Given the description of an element on the screen output the (x, y) to click on. 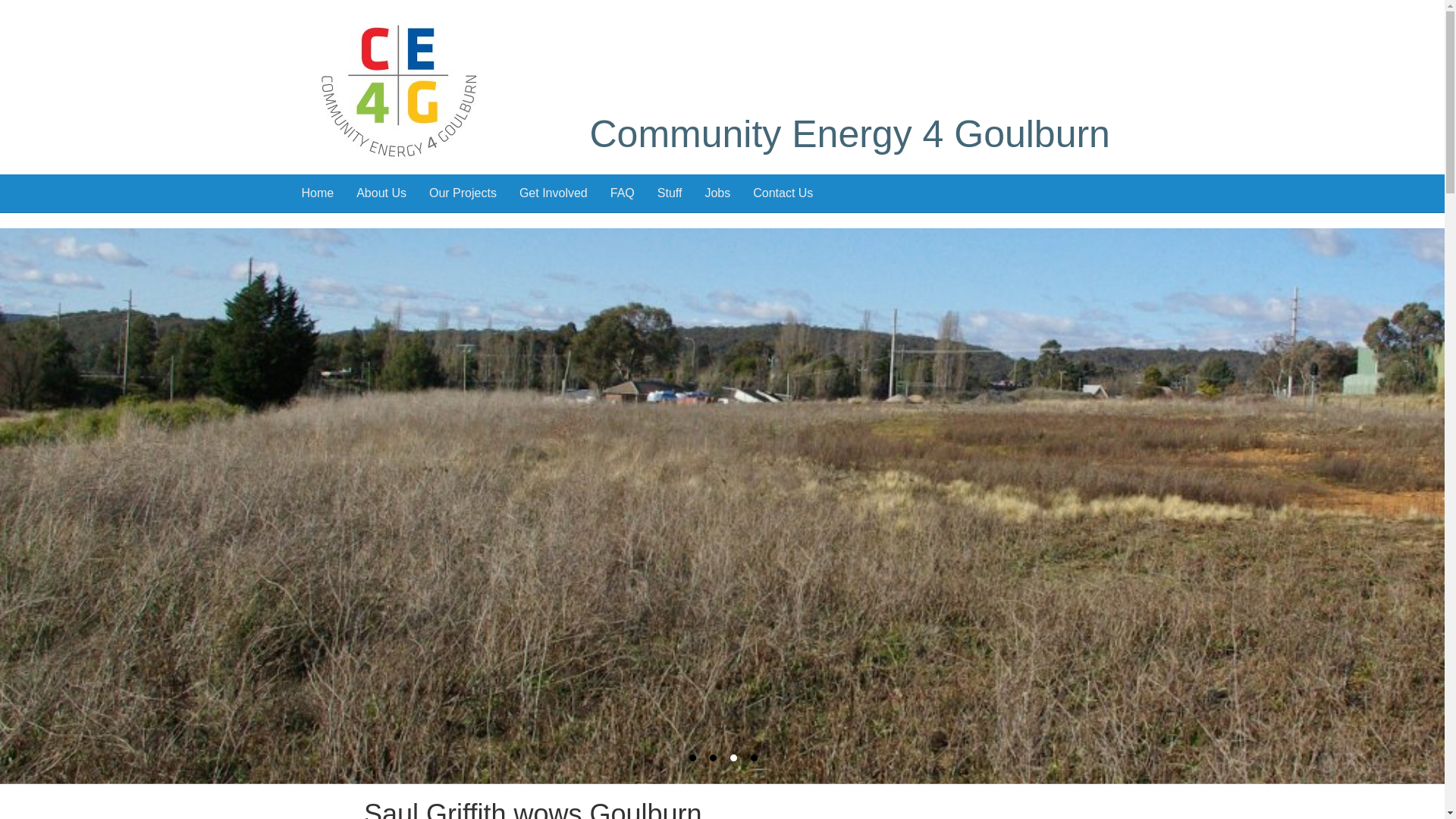
Contact Us Element type: text (782, 193)
Stuff Element type: text (669, 193)
About Us Element type: text (381, 193)
Get Involved Element type: text (553, 193)
FAQ Element type: text (622, 193)
Our Projects Element type: text (462, 193)
Jobs Element type: text (717, 193)
Home Element type: text (317, 193)
